Given the description of an element on the screen output the (x, y) to click on. 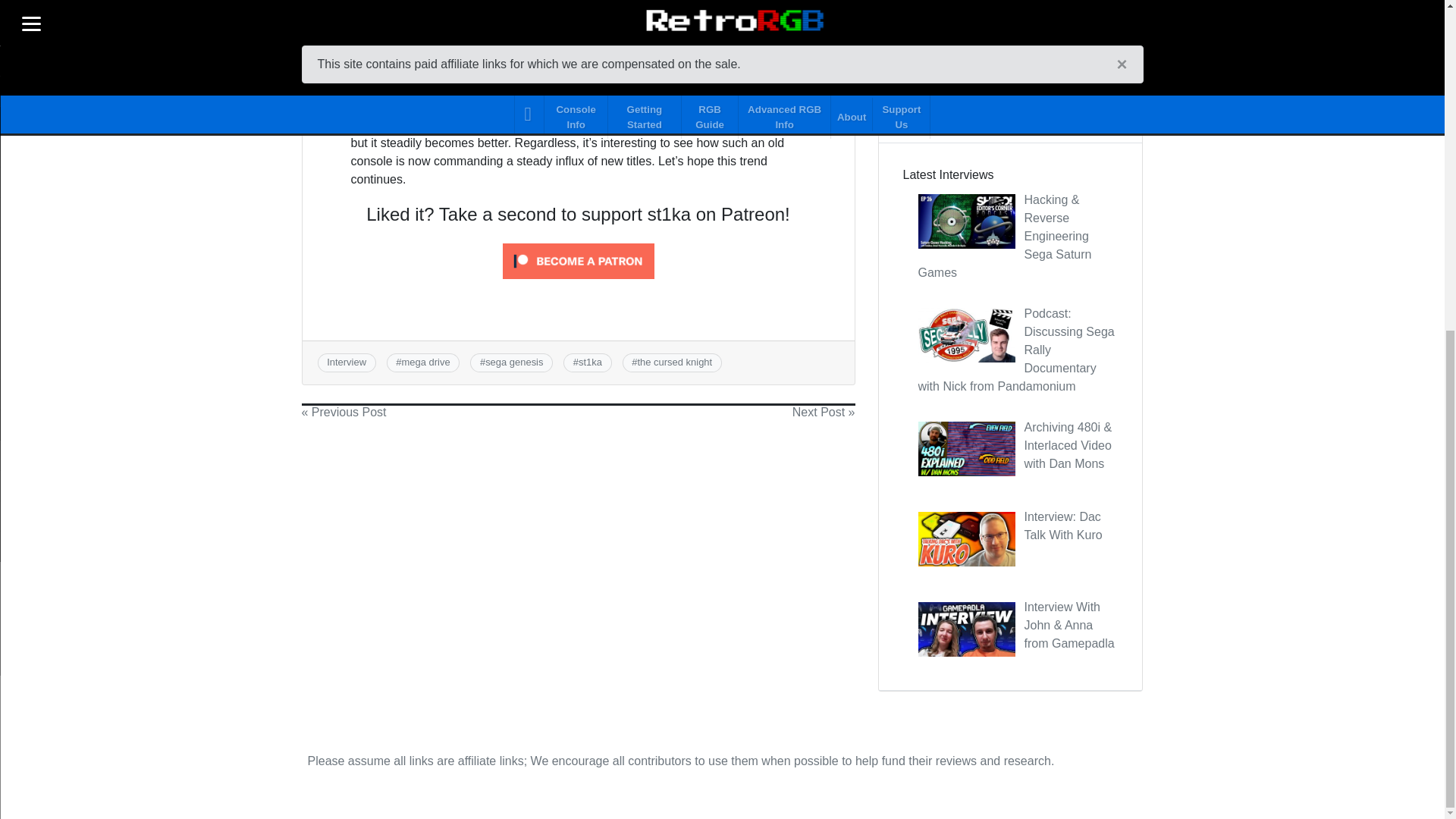
Interview: Dac Talk With Kuro (1062, 525)
RetroRGB Weekly Roundup (1010, 56)
Interview (346, 361)
st1ka (590, 361)
mega drive (425, 361)
the cursed knight (675, 361)
sega genesis (513, 361)
